Given the description of an element on the screen output the (x, y) to click on. 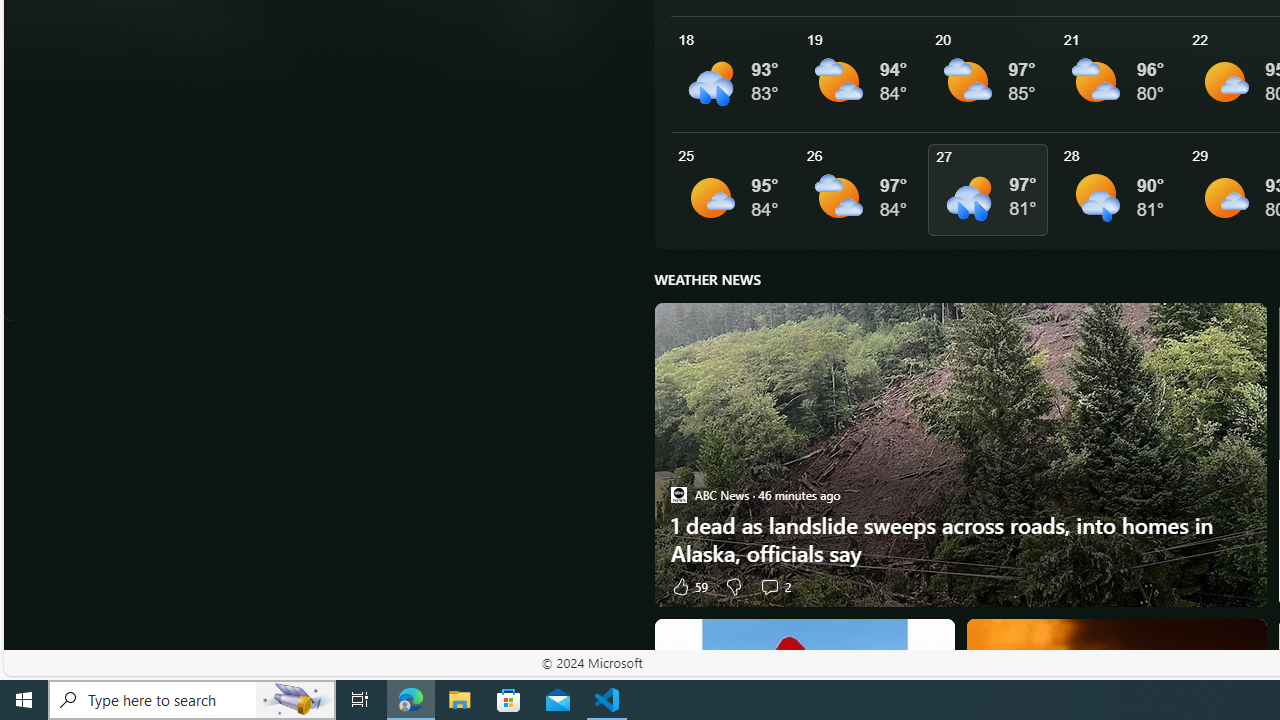
View comments 2 Comment (774, 586)
ABC News (678, 494)
